Given the description of an element on the screen output the (x, y) to click on. 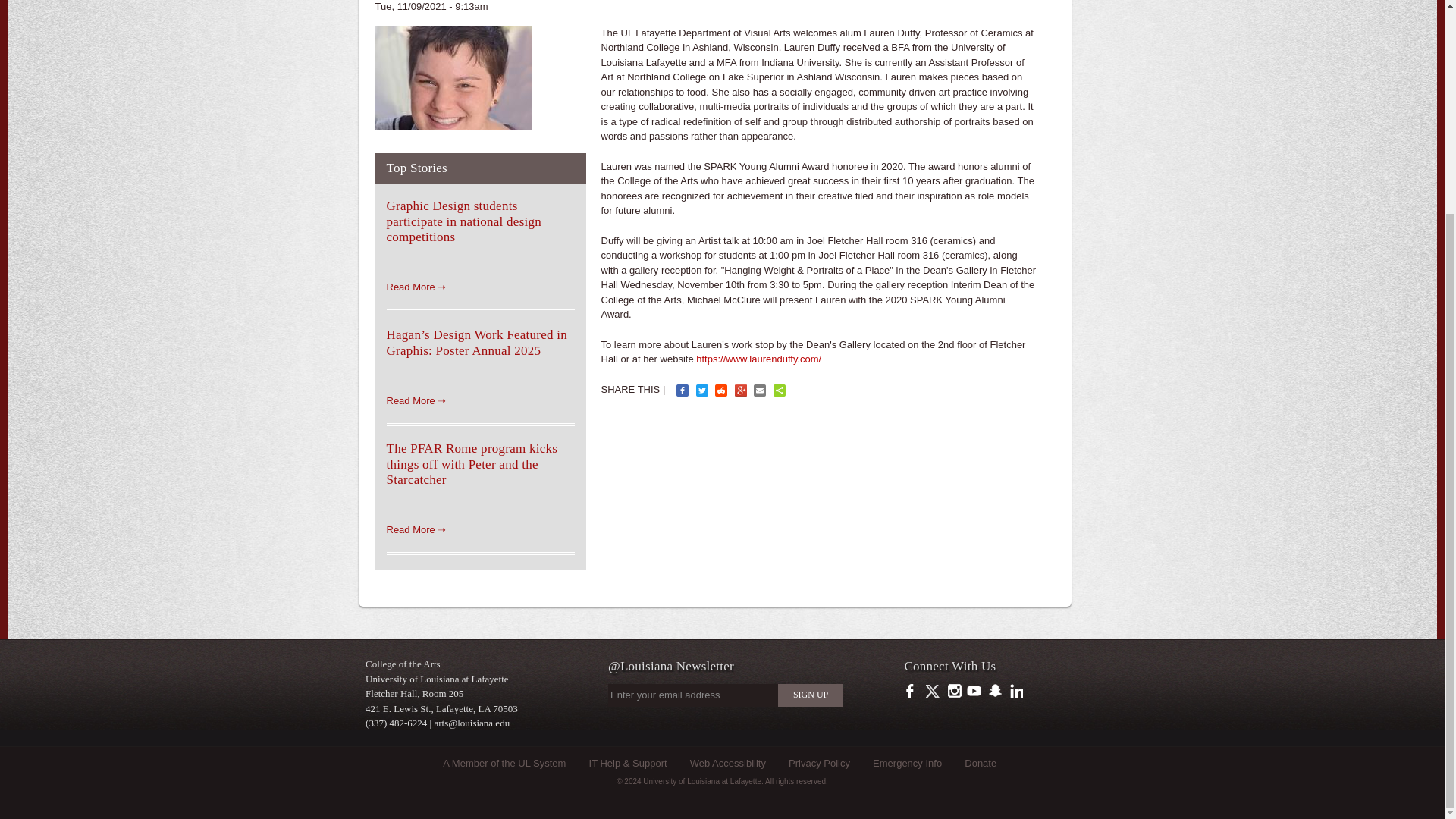
SIGN UP (810, 694)
